Given the description of an element on the screen output the (x, y) to click on. 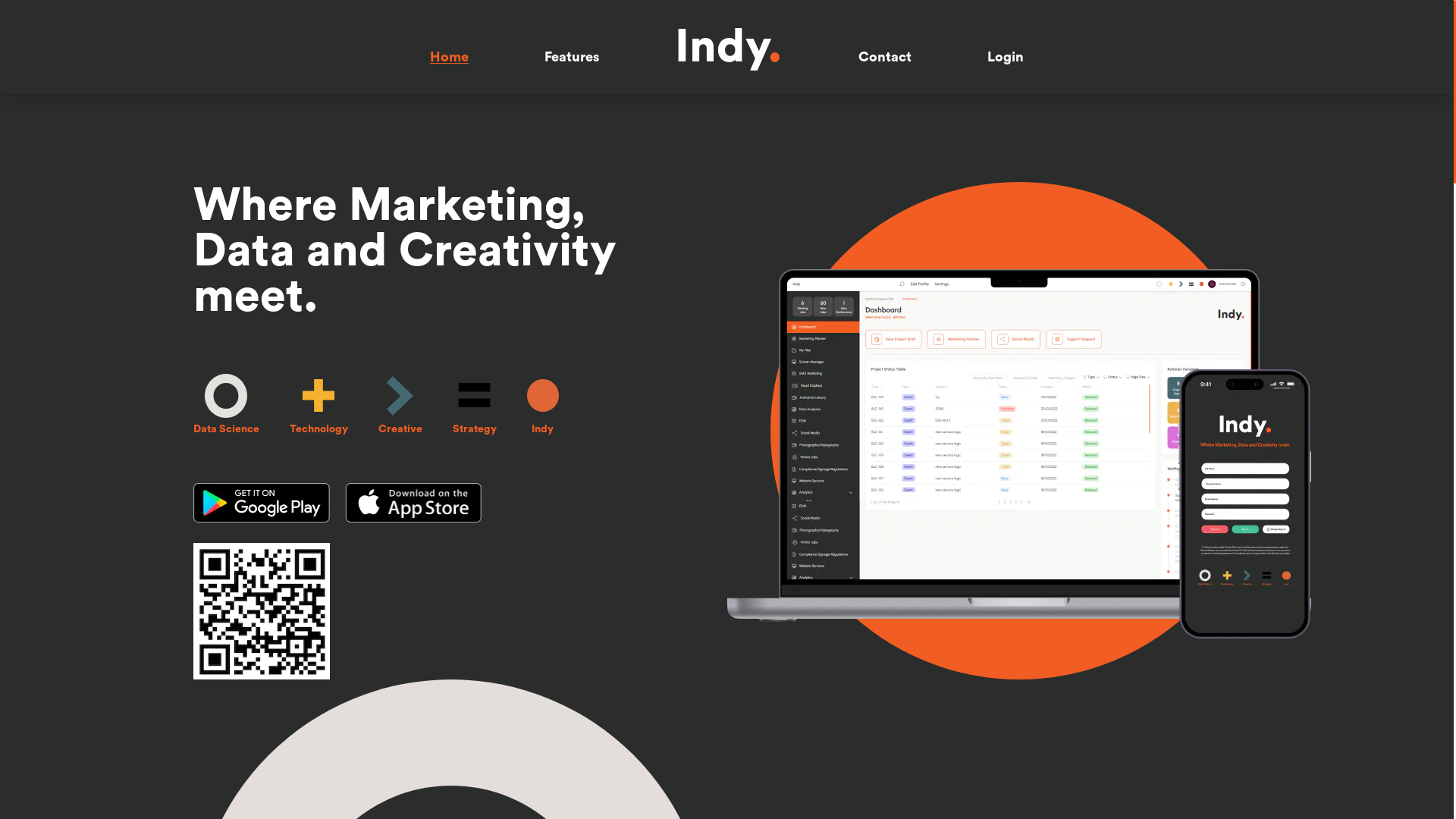
Features Element type: text (571, 56)
Contact Element type: text (884, 56)
Login Element type: text (1005, 56)
Home Element type: text (448, 56)
